Given the description of an element on the screen output the (x, y) to click on. 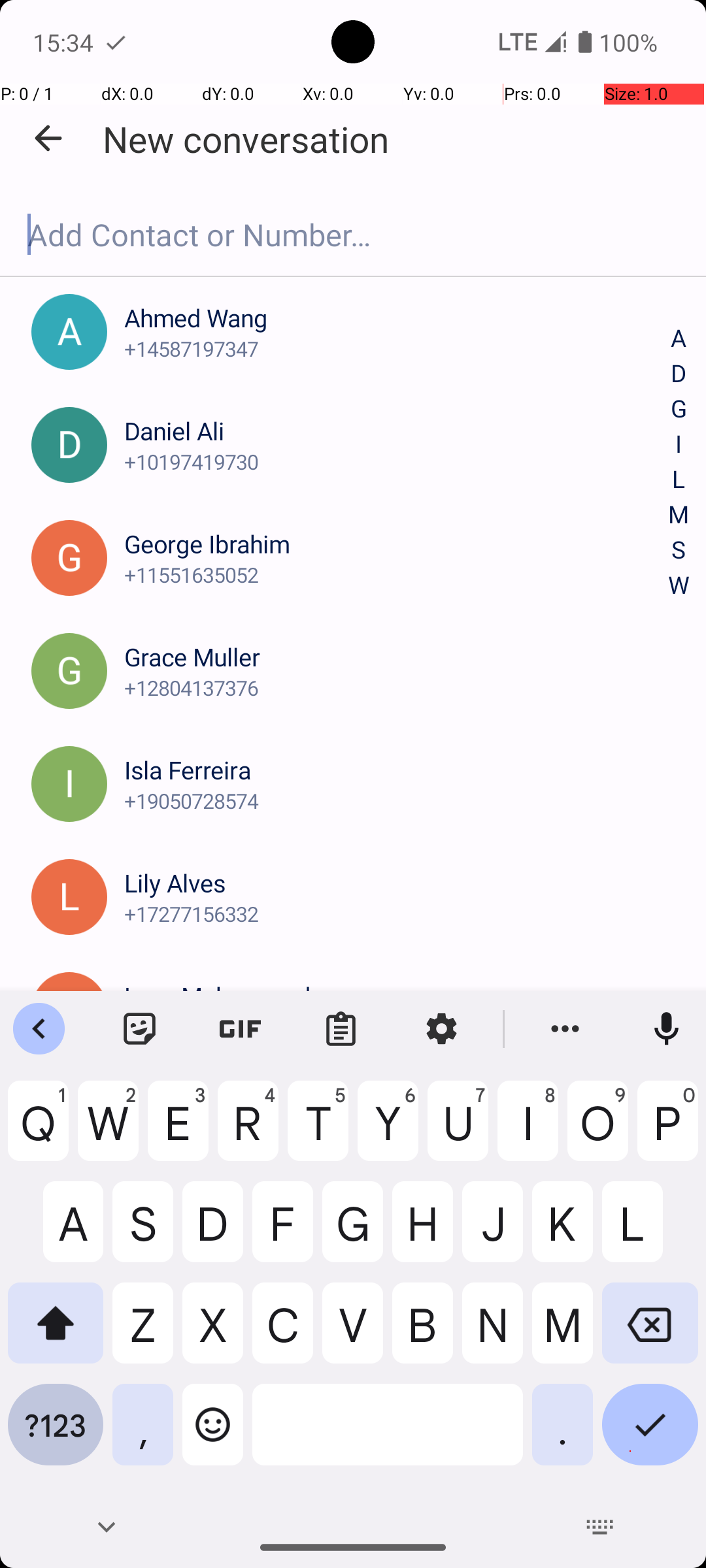
A
D
G
I
L
M
S
W Element type: android.widget.TextView (678, 462)
+14587197347 Element type: android.widget.TextView (397, 348)
+10197419730 Element type: android.widget.TextView (397, 461)
George Ibrahim Element type: android.widget.TextView (397, 543)
+11551635052 Element type: android.widget.TextView (397, 574)
Grace Muller Element type: android.widget.TextView (397, 656)
+12804137376 Element type: android.widget.TextView (397, 687)
Isla Ferreira Element type: android.widget.TextView (397, 769)
+19050728574 Element type: android.widget.TextView (397, 800)
Lily Alves Element type: android.widget.TextView (397, 882)
+17277156332 Element type: android.widget.TextView (397, 913)
Luca Mohammed Element type: android.widget.TextView (397, 995)
